Given the description of an element on the screen output the (x, y) to click on. 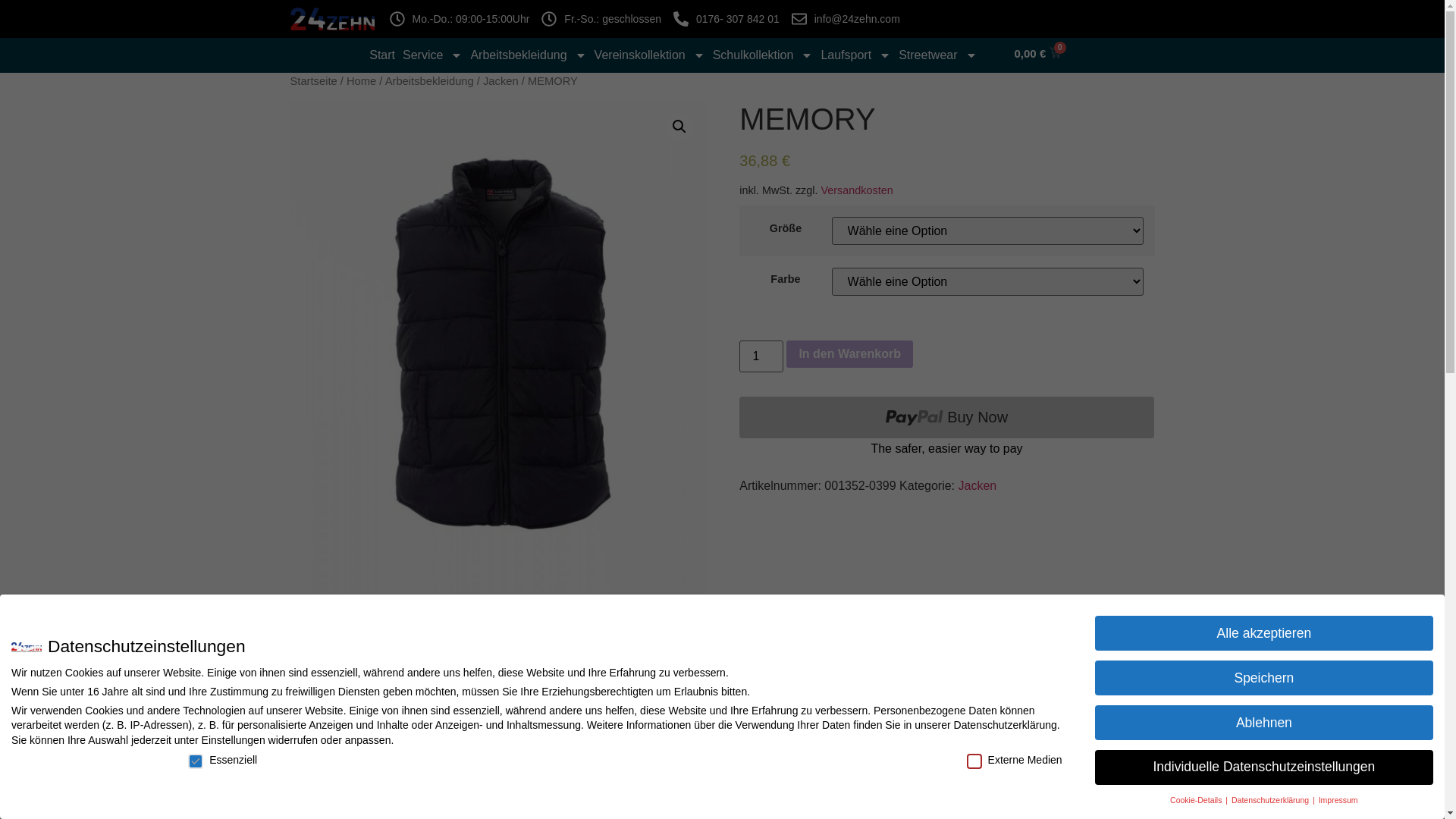
Rot_56 Element type: hover (496, 412)
Arbeitsbekleidung Element type: text (527, 54)
Laufsport Element type: text (855, 54)
Logo-S-H-Farben-Clean Element type: hover (331, 18)
Start Element type: text (381, 54)
Cookie-Details Element type: text (1196, 799)
Home Element type: text (361, 81)
Alle akzeptieren Element type: text (1264, 632)
Service Element type: text (432, 54)
Individuelle Datenschutzeinstellungen Element type: text (1264, 766)
Schulkollektion Element type: text (763, 54)
Einstellungen Element type: text (233, 740)
PayPal Element type: hover (946, 427)
Versandkosten Element type: text (856, 190)
In den Warenkorb Element type: text (849, 353)
Jacken Element type: text (977, 485)
Ablehnen Element type: text (1264, 722)
Arbeitsbekleidung Element type: text (429, 81)
Impressum Element type: text (1338, 799)
Beschreibung Element type: text (351, 763)
Speichern Element type: text (1264, 677)
Startseite Element type: text (312, 81)
Streetwear Element type: text (937, 54)
Jacken Element type: text (500, 81)
Vereinskollektion Element type: text (649, 54)
